Given the description of an element on the screen output the (x, y) to click on. 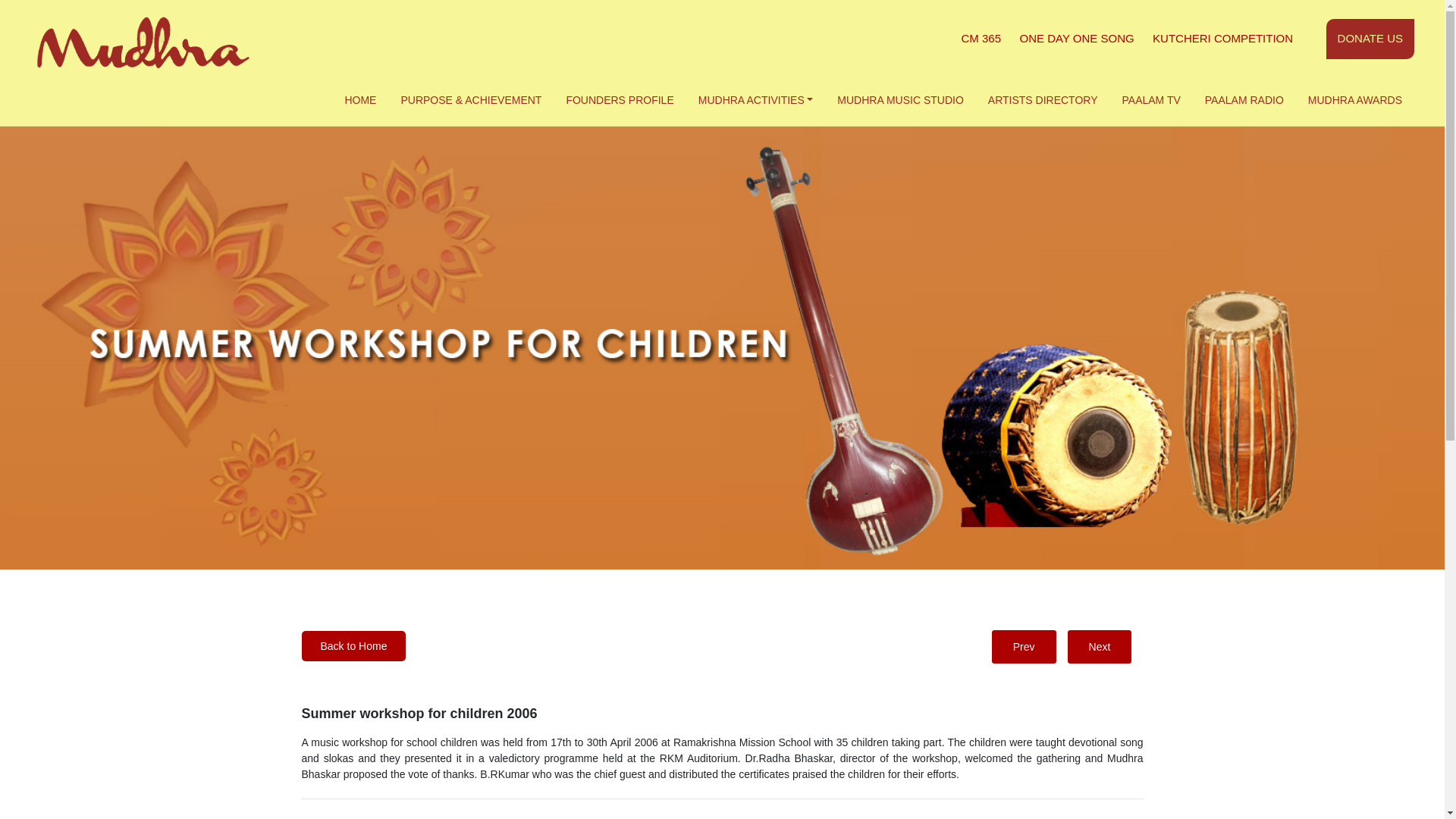
PAALAM TV (1151, 100)
Paalam Tv (1151, 100)
DONATE US (1369, 38)
Home (359, 100)
Mudhra Music Studio (900, 100)
Prev (1024, 646)
CM 365 (980, 38)
Founders Profile (619, 100)
Artists Directory (1042, 100)
PAALAM RADIO (1244, 100)
